Given the description of an element on the screen output the (x, y) to click on. 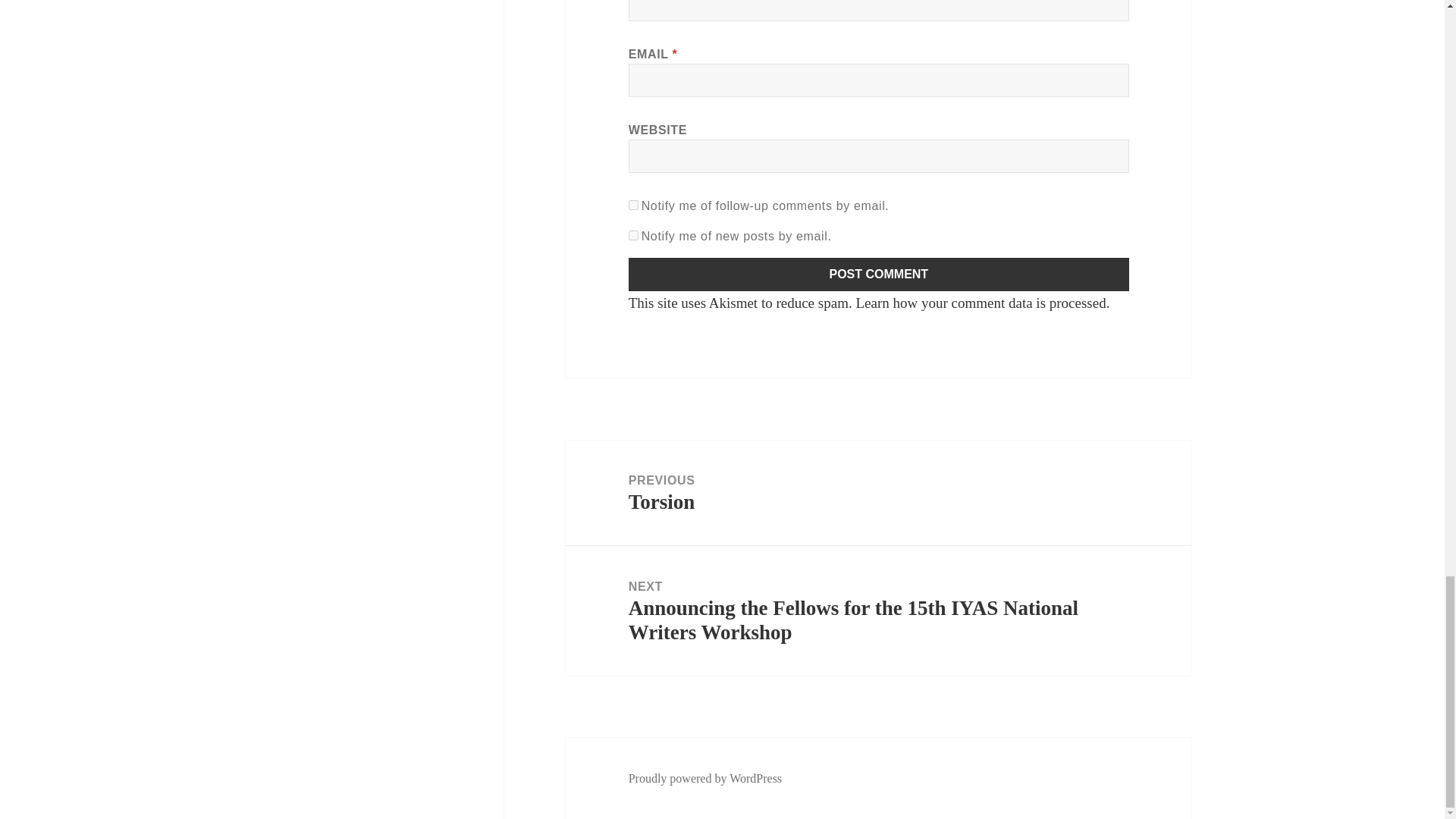
Proudly powered by WordPress (704, 778)
subscribe (633, 204)
Post Comment (878, 274)
Post Comment (878, 274)
Learn how your comment data is processed (878, 493)
subscribe (980, 302)
